Given the description of an element on the screen output the (x, y) to click on. 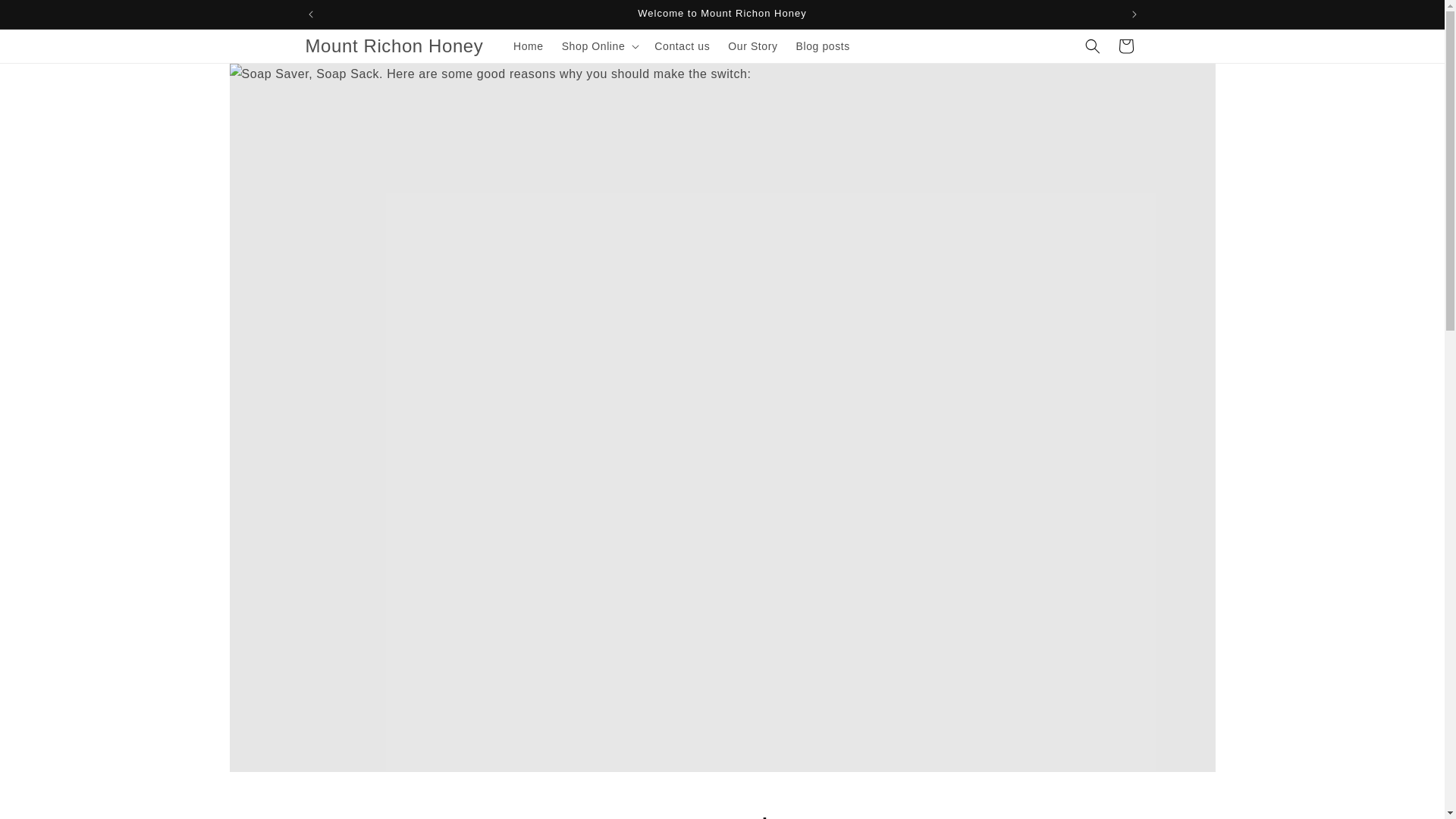
Our Story (752, 46)
Skip to content (45, 17)
Blog posts (823, 46)
Home (528, 46)
Contact us (682, 46)
Mount Richon Honey (394, 46)
